Given the description of an element on the screen output the (x, y) to click on. 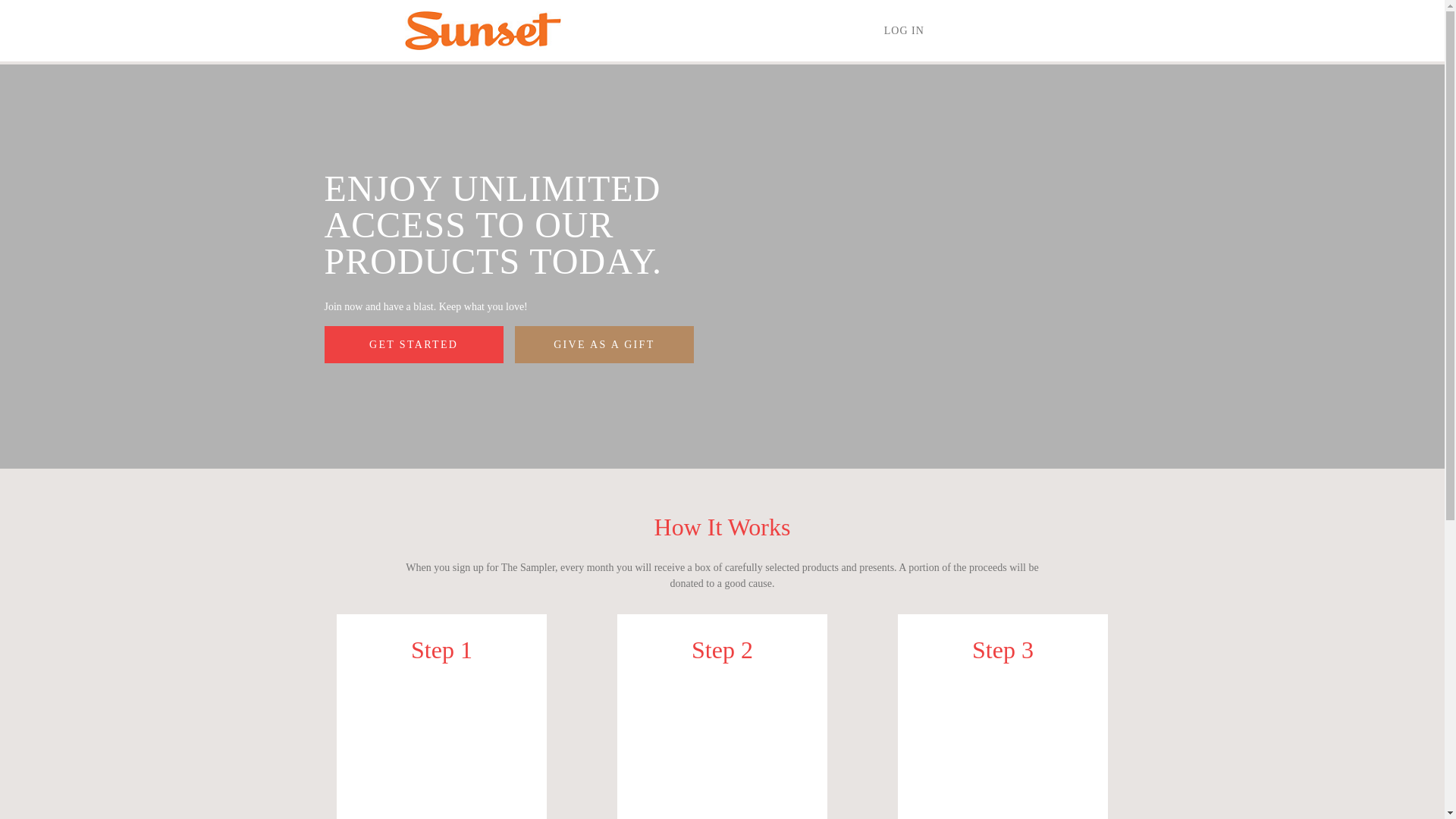
GIVE AS A GIFT (604, 344)
GET STARTED (413, 344)
LOG IN (904, 30)
